Given the description of an element on the screen output the (x, y) to click on. 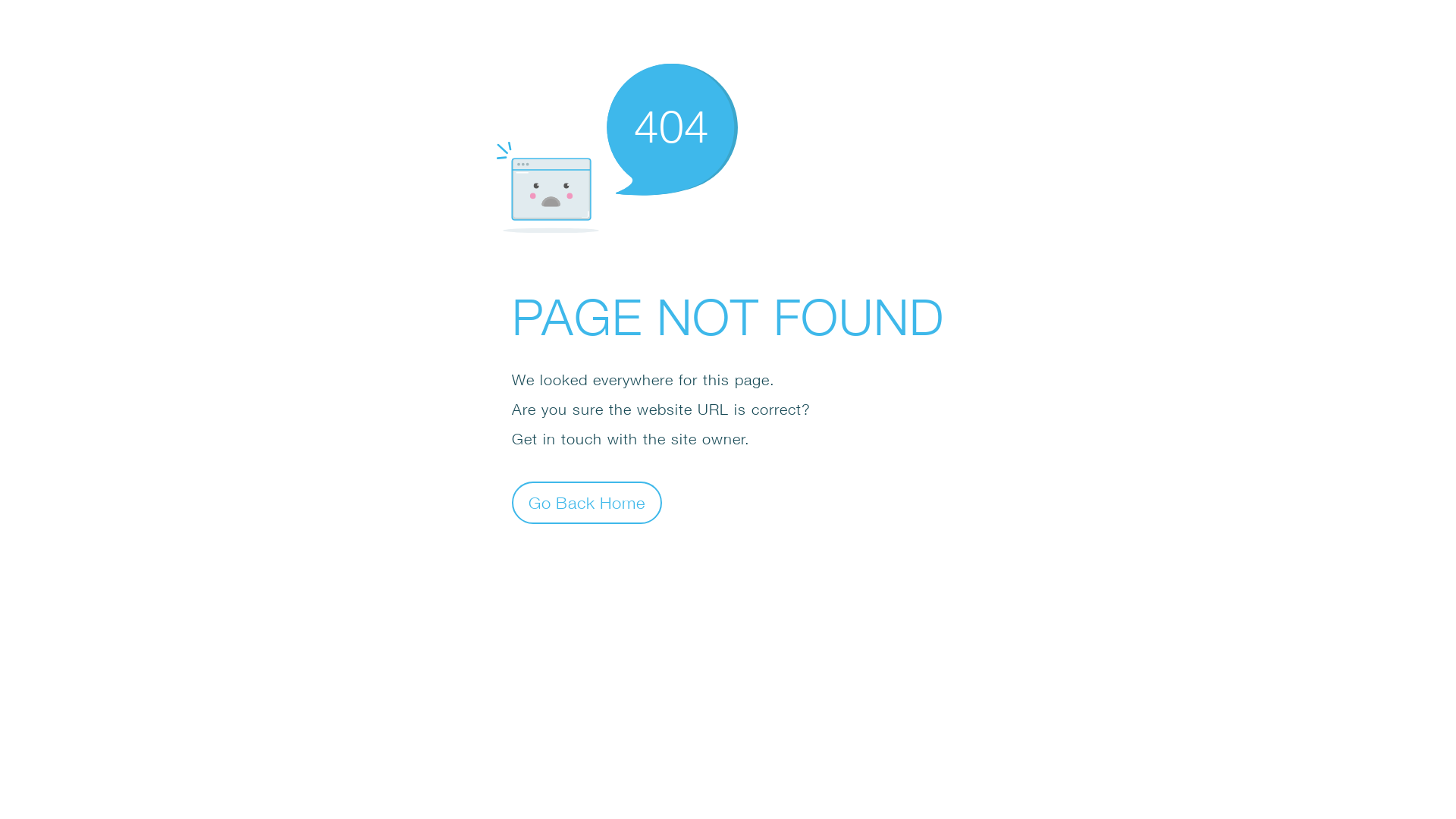
Go Back Home Element type: text (586, 502)
